Given the description of an element on the screen output the (x, y) to click on. 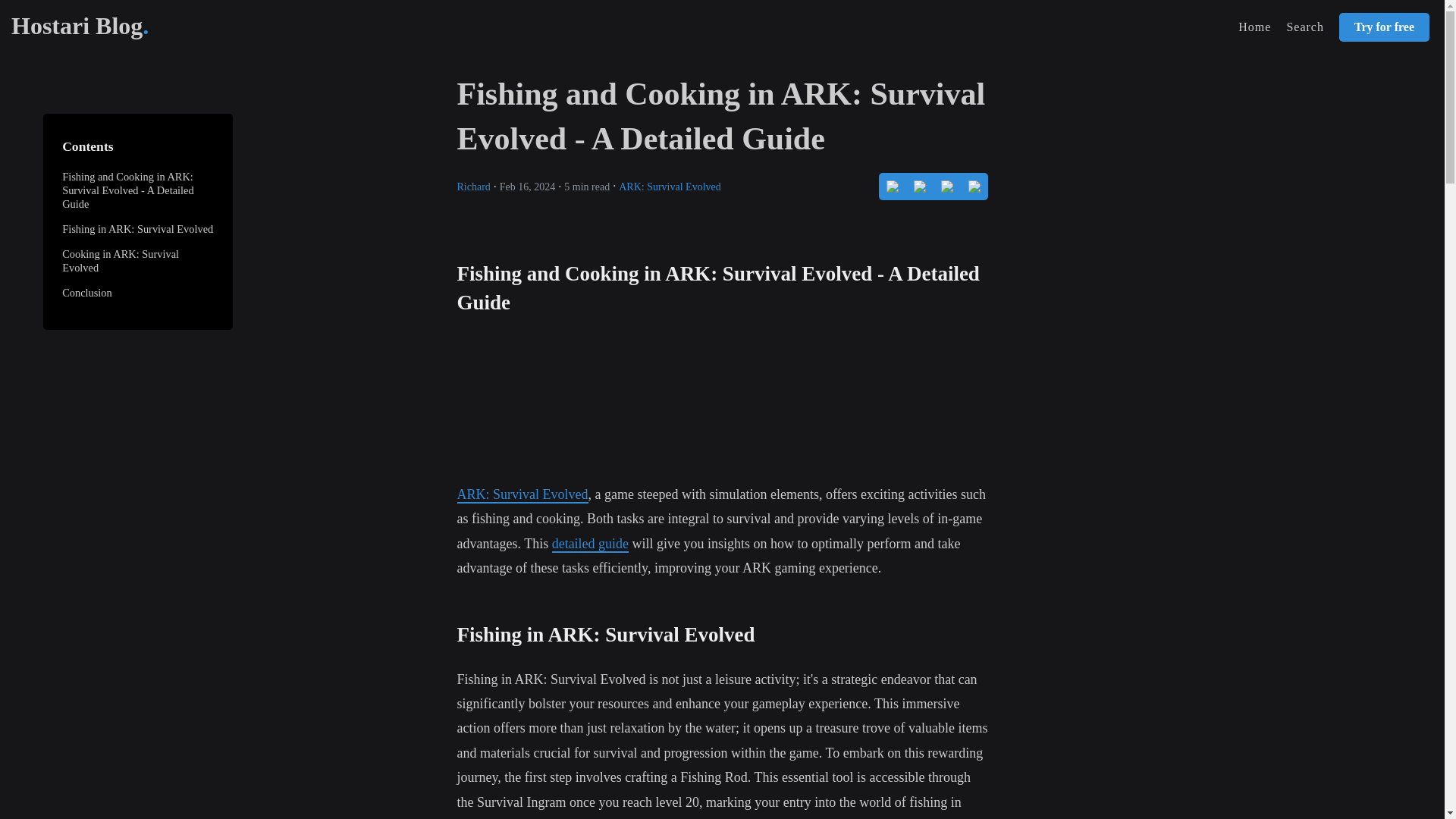
Search (1305, 26)
Fishing in ARK: Survival Evolved (137, 228)
detailed guide (589, 544)
ARK: Survival Evolved (669, 185)
ARK: Survival Evolved (522, 494)
Richard (473, 185)
Conclusion (87, 292)
Try for free (1384, 26)
Cooking in ARK: Survival Evolved (120, 260)
